Given the description of an element on the screen output the (x, y) to click on. 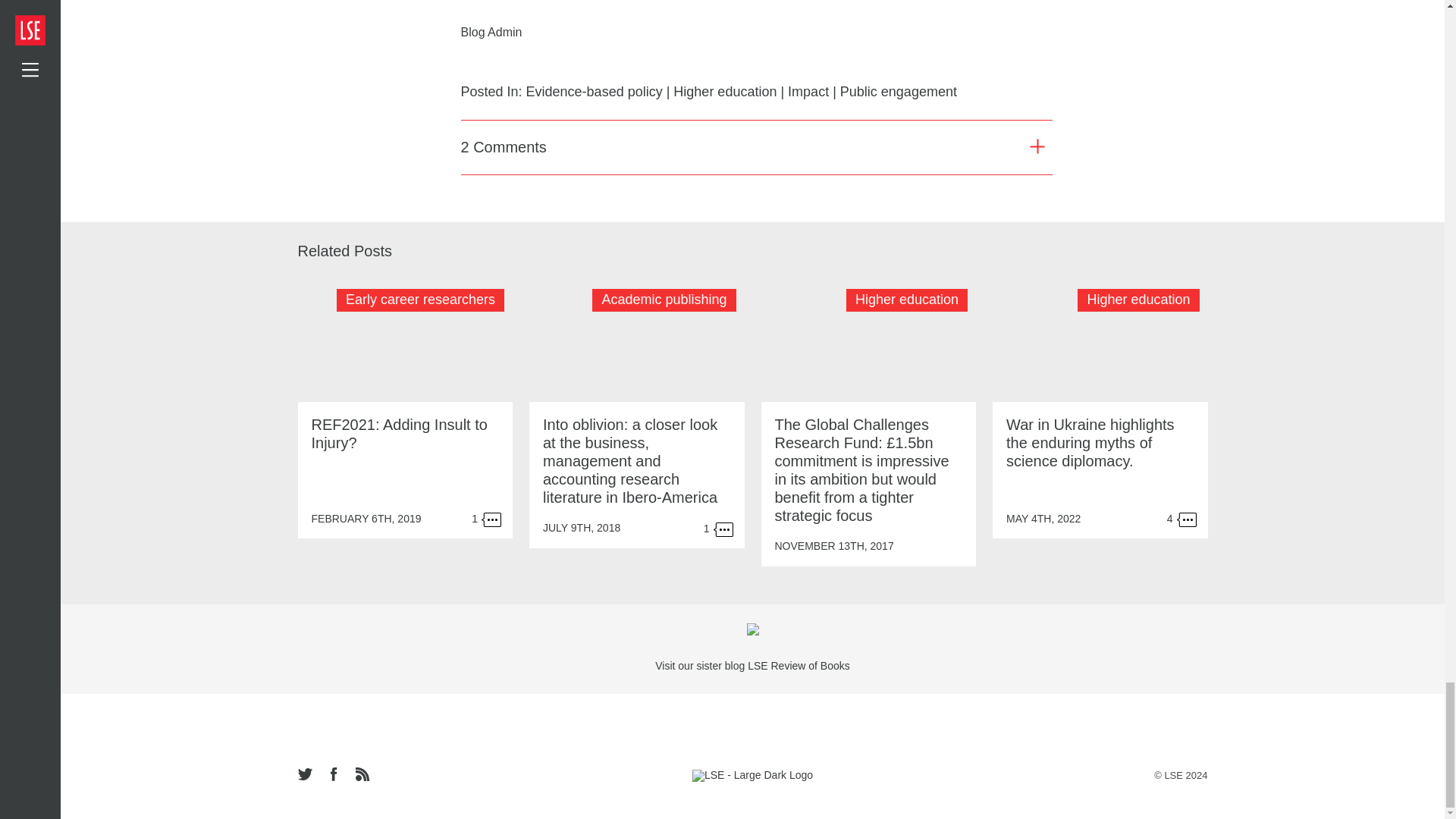
twitter (308, 775)
rss (361, 775)
facebook (333, 775)
